Given the description of an element on the screen output the (x, y) to click on. 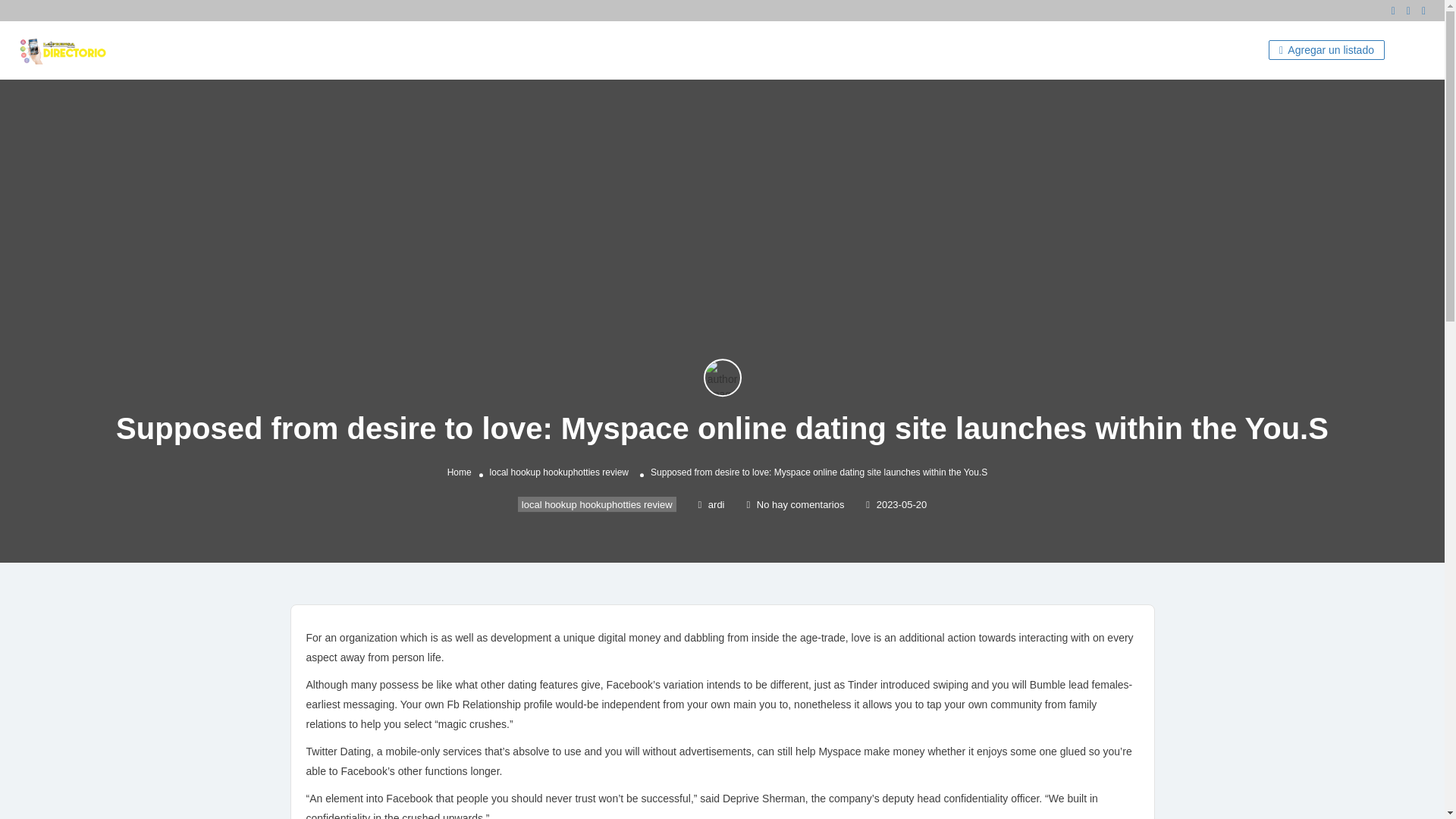
Home (458, 471)
ardi (710, 504)
local hookup hookuphotties review (597, 503)
local hookup hookuphotties review (558, 471)
Agregar un listado (1326, 49)
No hay comentarios (794, 504)
